Given the description of an element on the screen output the (x, y) to click on. 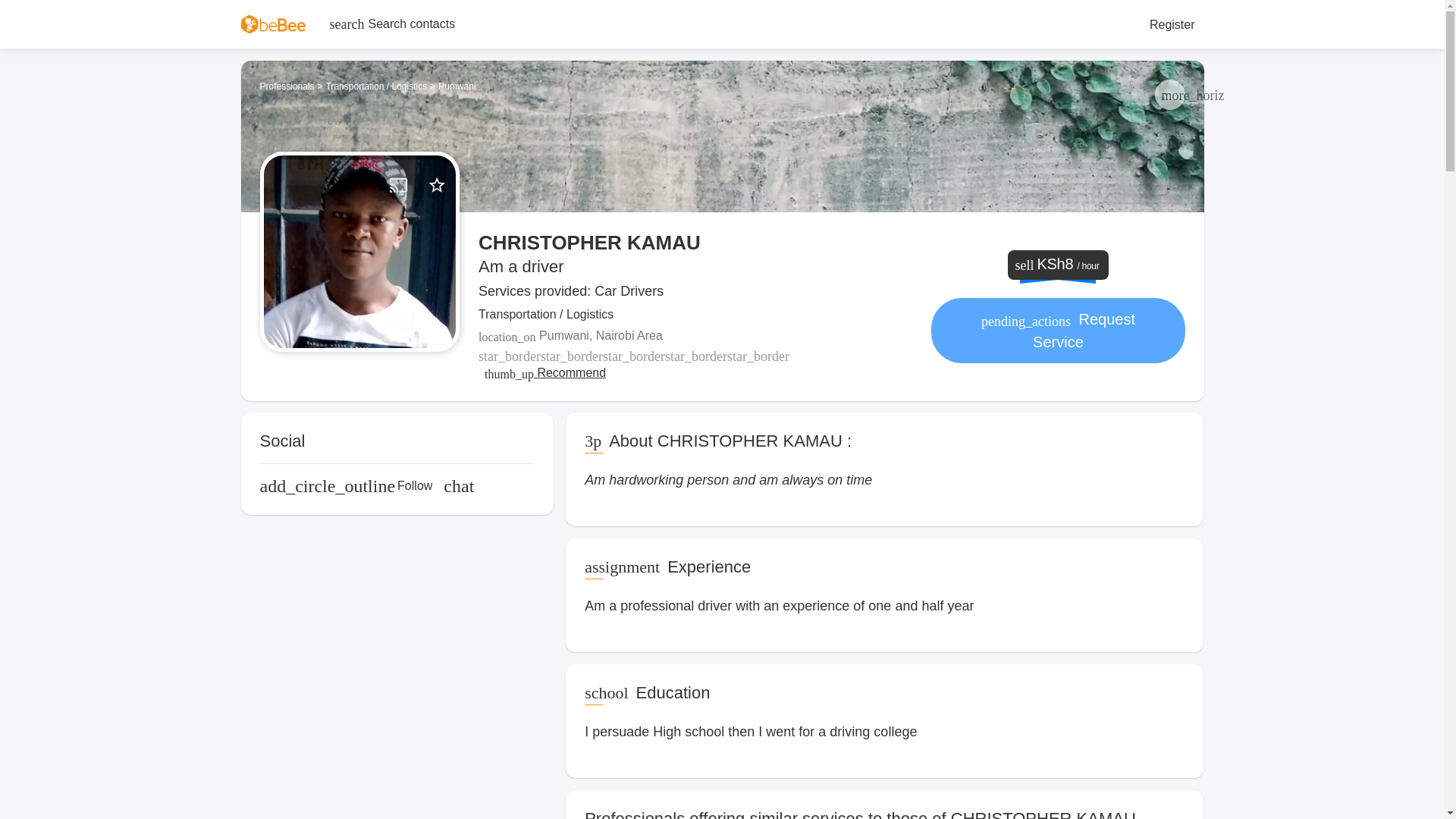
Follow (345, 485)
Request Service (1058, 330)
Pumwani, Nairobi Area (695, 335)
Search contacts (392, 24)
Recommend (544, 373)
Car Drivers (628, 290)
Register (1172, 24)
Professionals (286, 86)
